Given the description of an element on the screen output the (x, y) to click on. 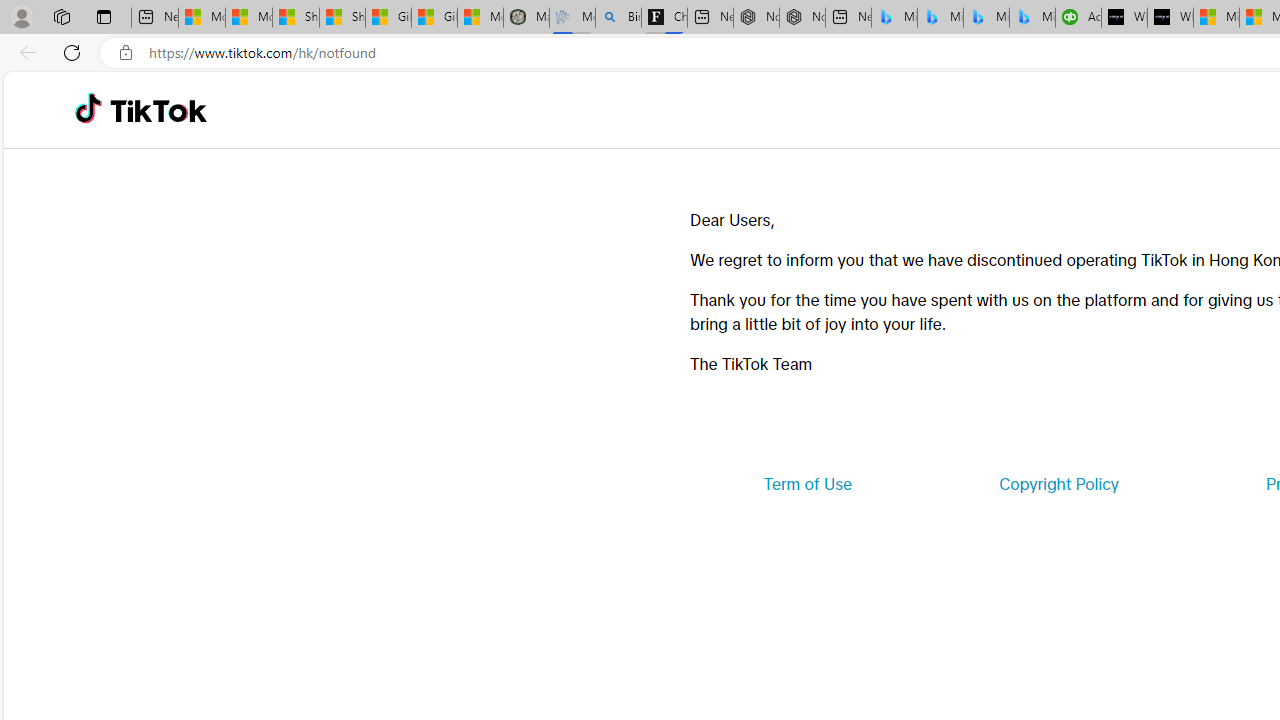
Copyright Policy (1058, 484)
Microsoft Bing Travel - Stays in Bangkok, Bangkok, Thailand (939, 17)
Accounting Software for Accountants, CPAs and Bookkeepers (1078, 17)
Chloe Sorvino (664, 17)
